Given the description of an element on the screen output the (x, y) to click on. 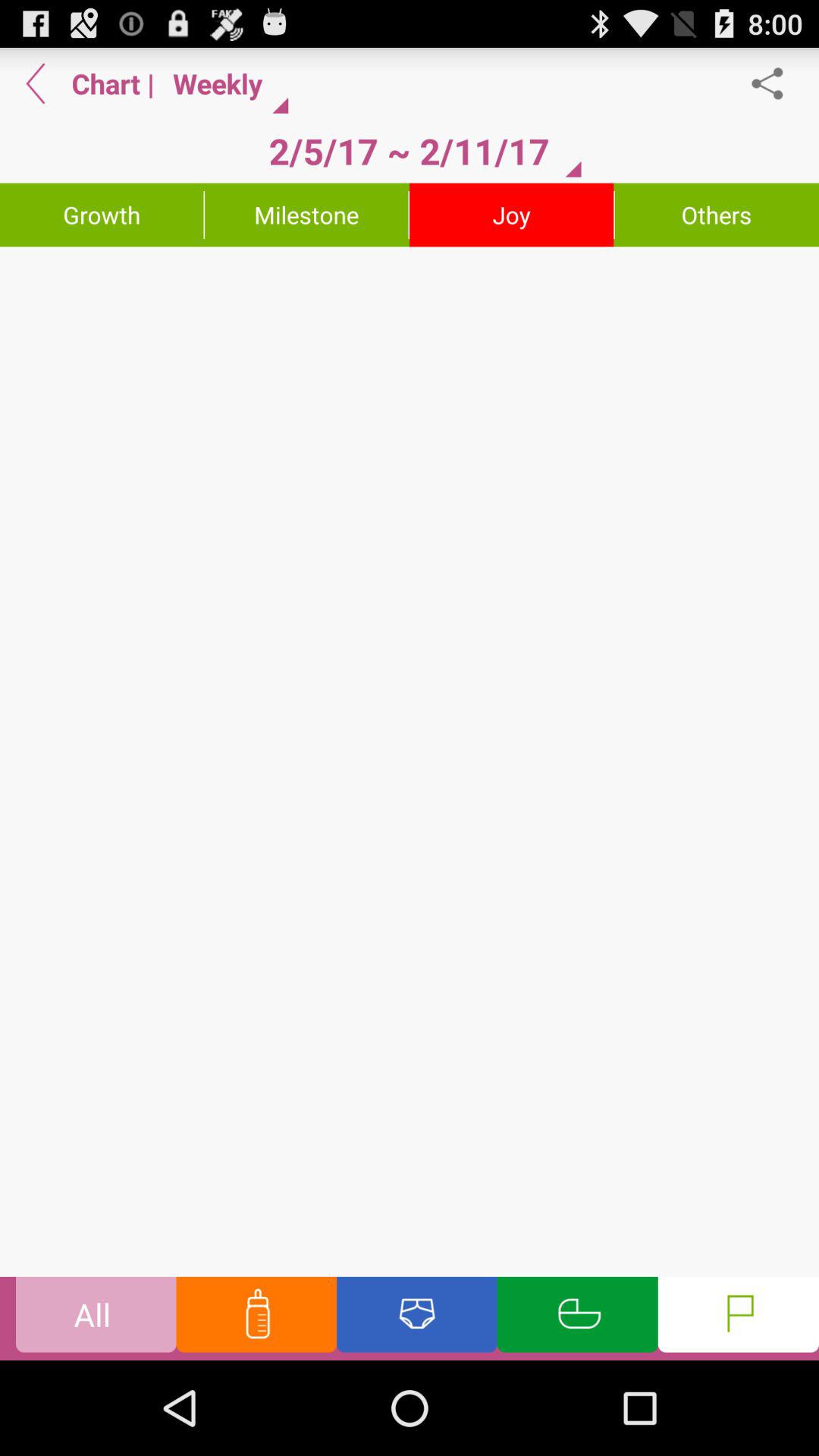
tap item below 2 5 17 button (306, 214)
